Given the description of an element on the screen output the (x, y) to click on. 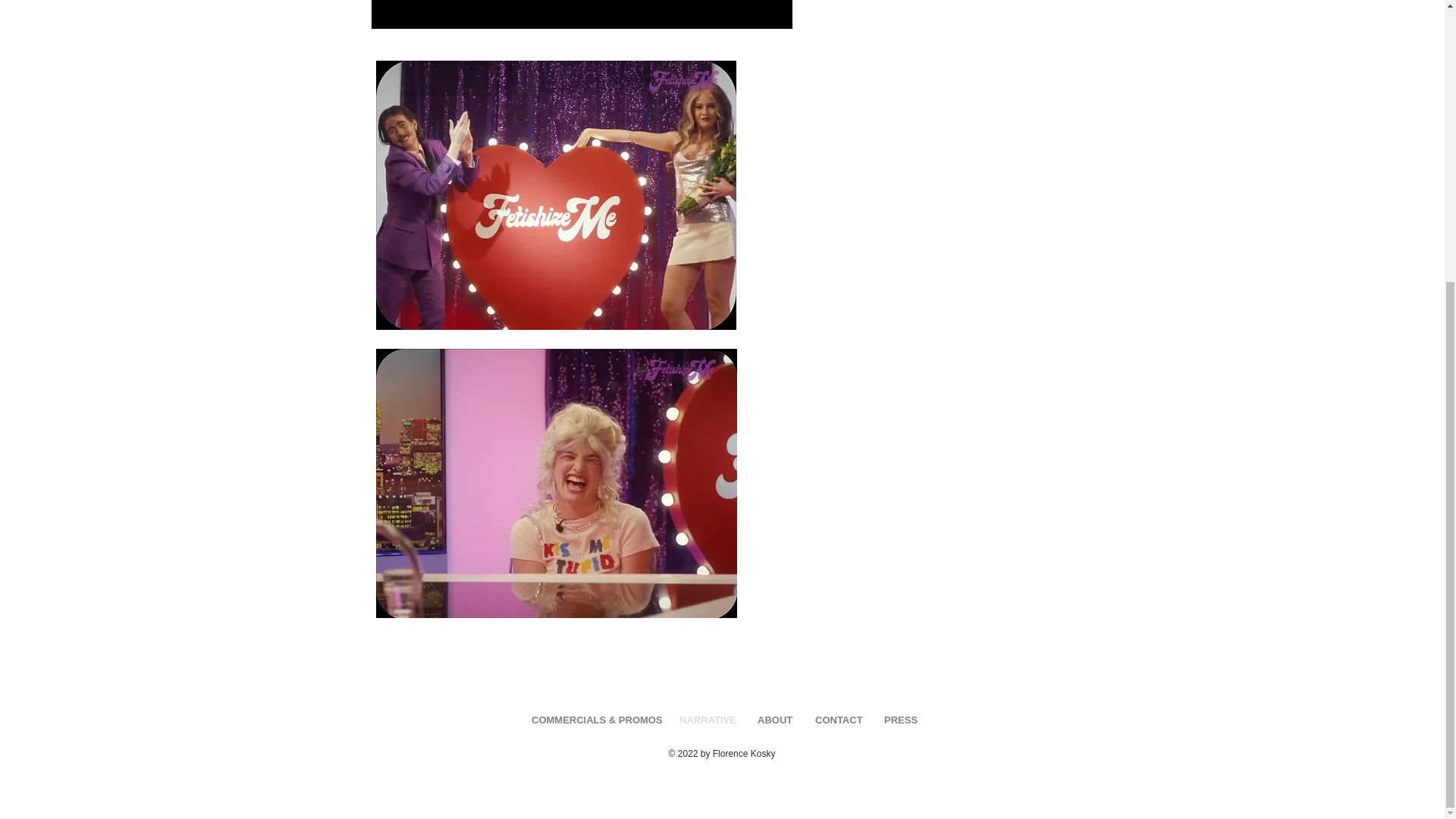
CONTACT (837, 719)
PRESS (898, 719)
NARRATIVE (706, 719)
ABOUT (774, 719)
